Given the description of an element on the screen output the (x, y) to click on. 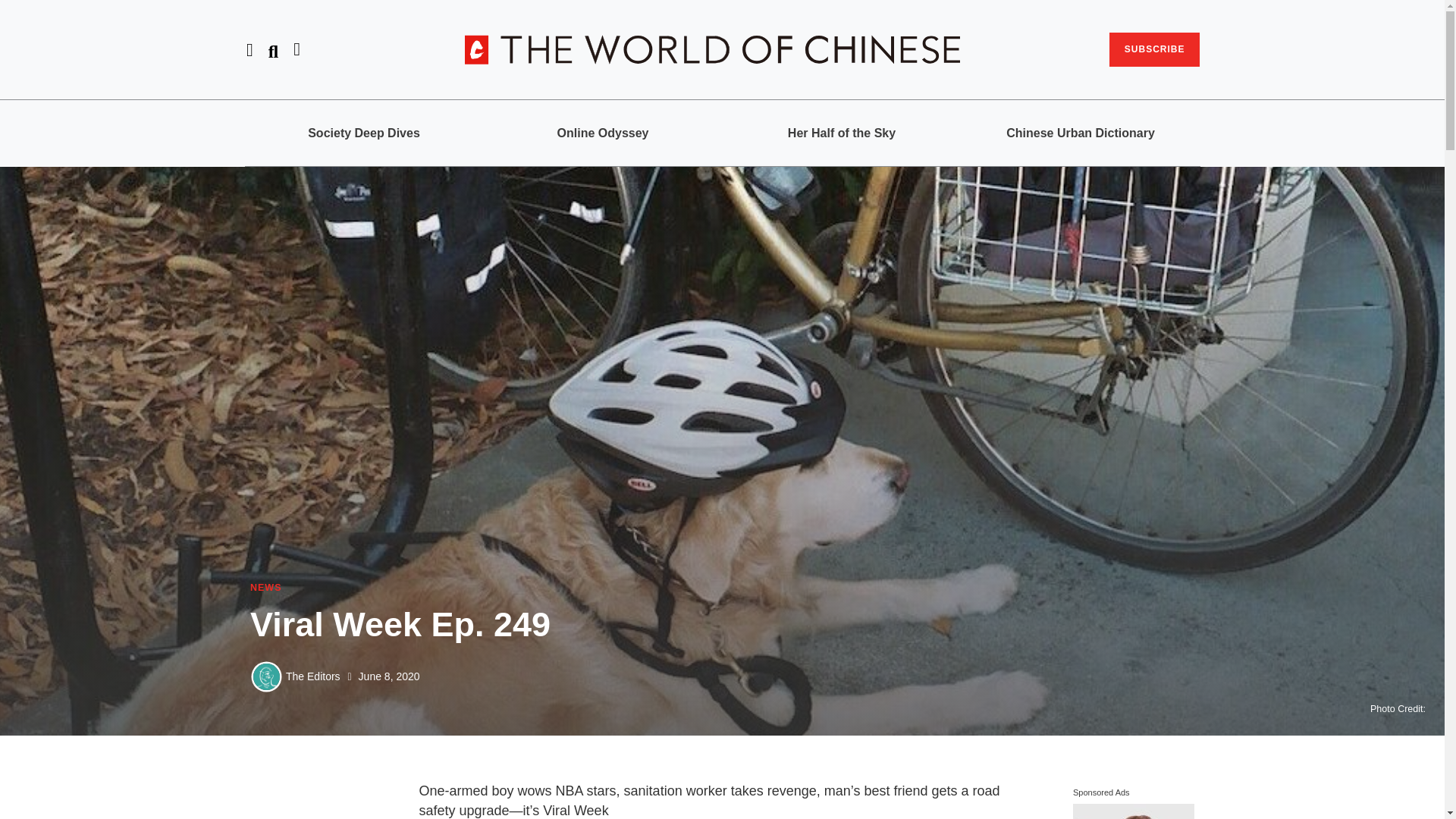
Posts by The Editors (312, 676)
